Given the description of an element on the screen output the (x, y) to click on. 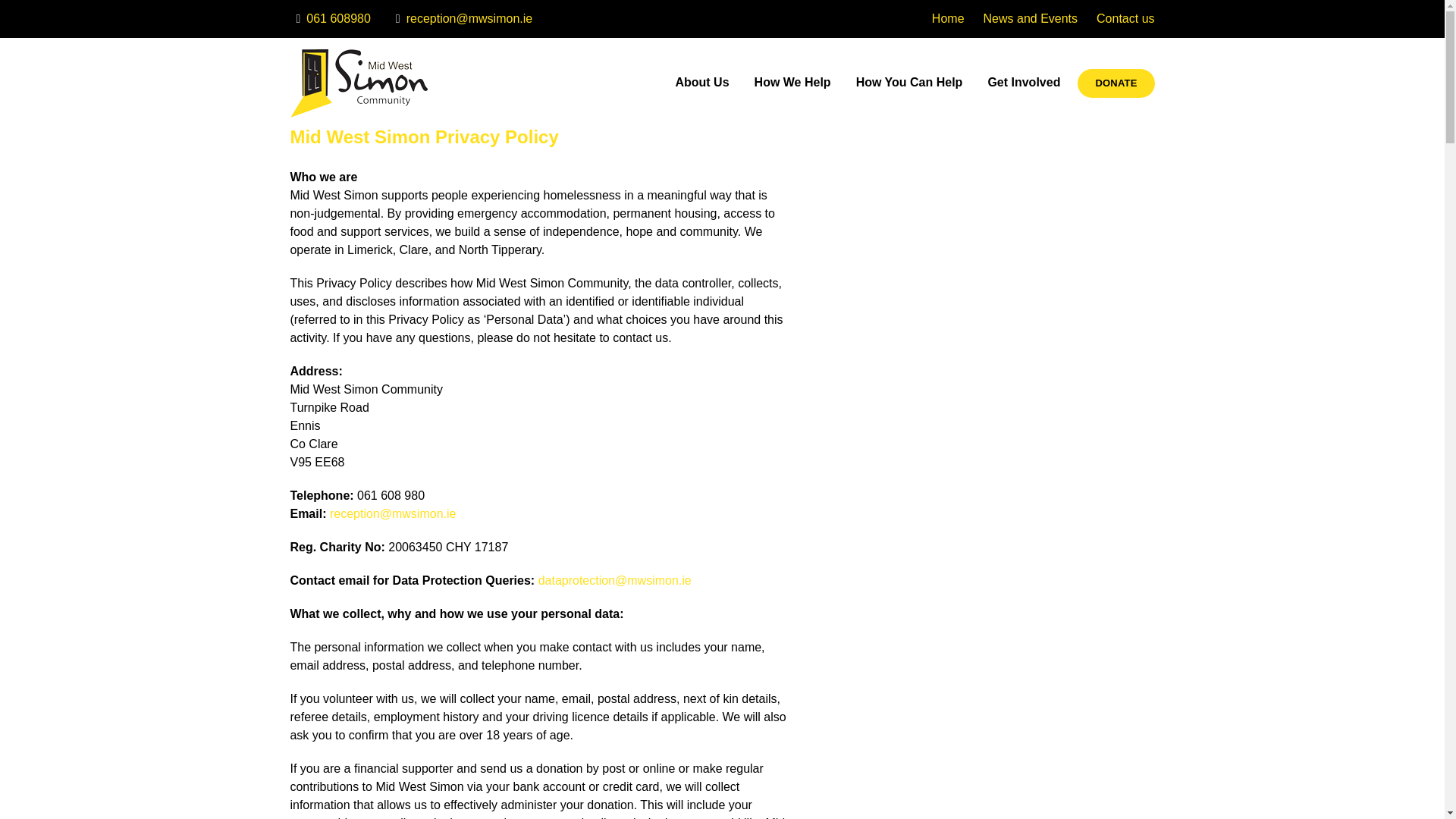
How You Can Help (909, 82)
061 608980 (329, 18)
DONATE (1115, 82)
News and Events (1031, 18)
Contact us (1125, 18)
Get Involved (1023, 82)
How We Help (792, 82)
About Us (701, 82)
